Given the description of an element on the screen output the (x, y) to click on. 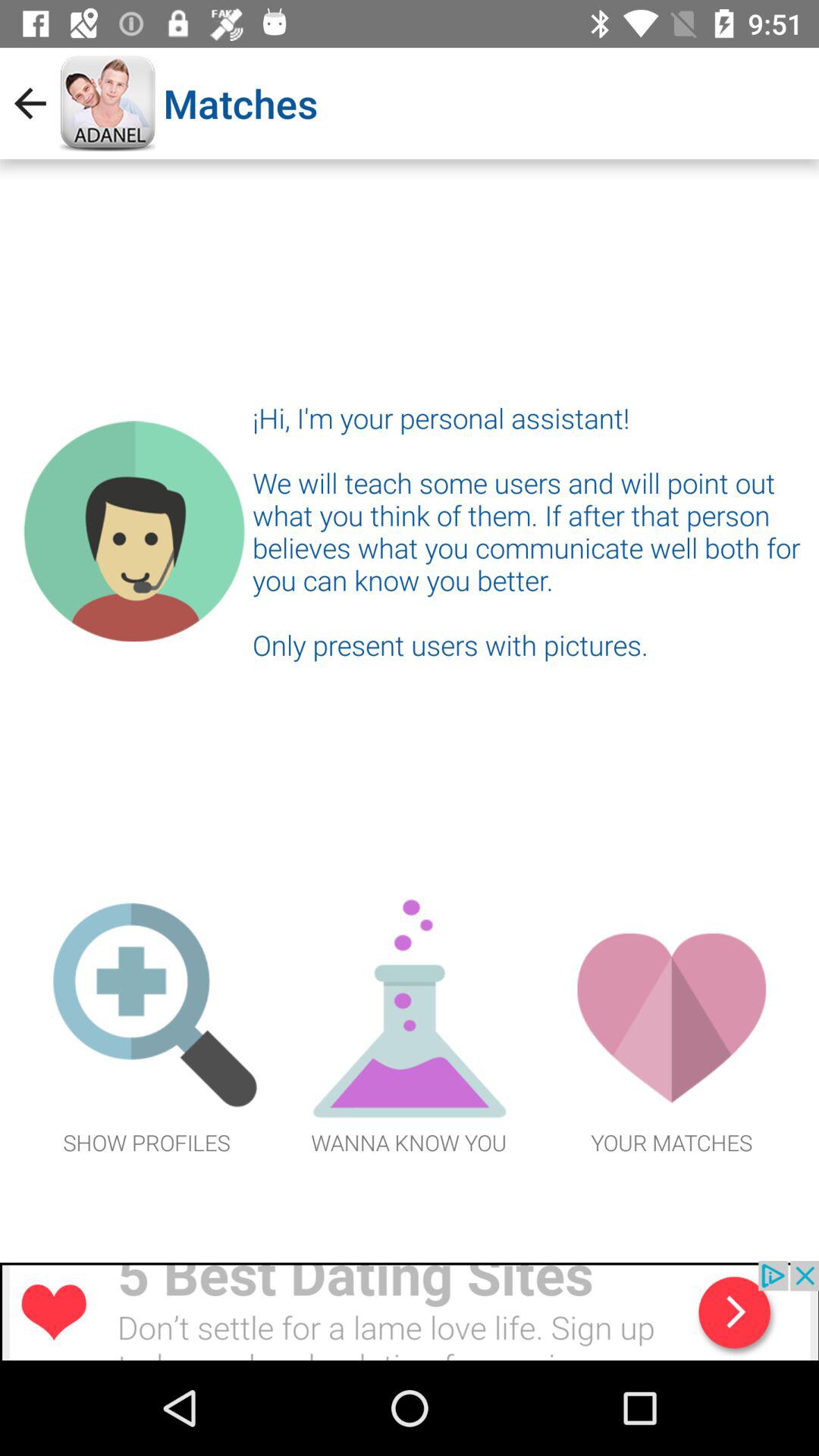
go to advertisement (409, 1310)
